Given the description of an element on the screen output the (x, y) to click on. 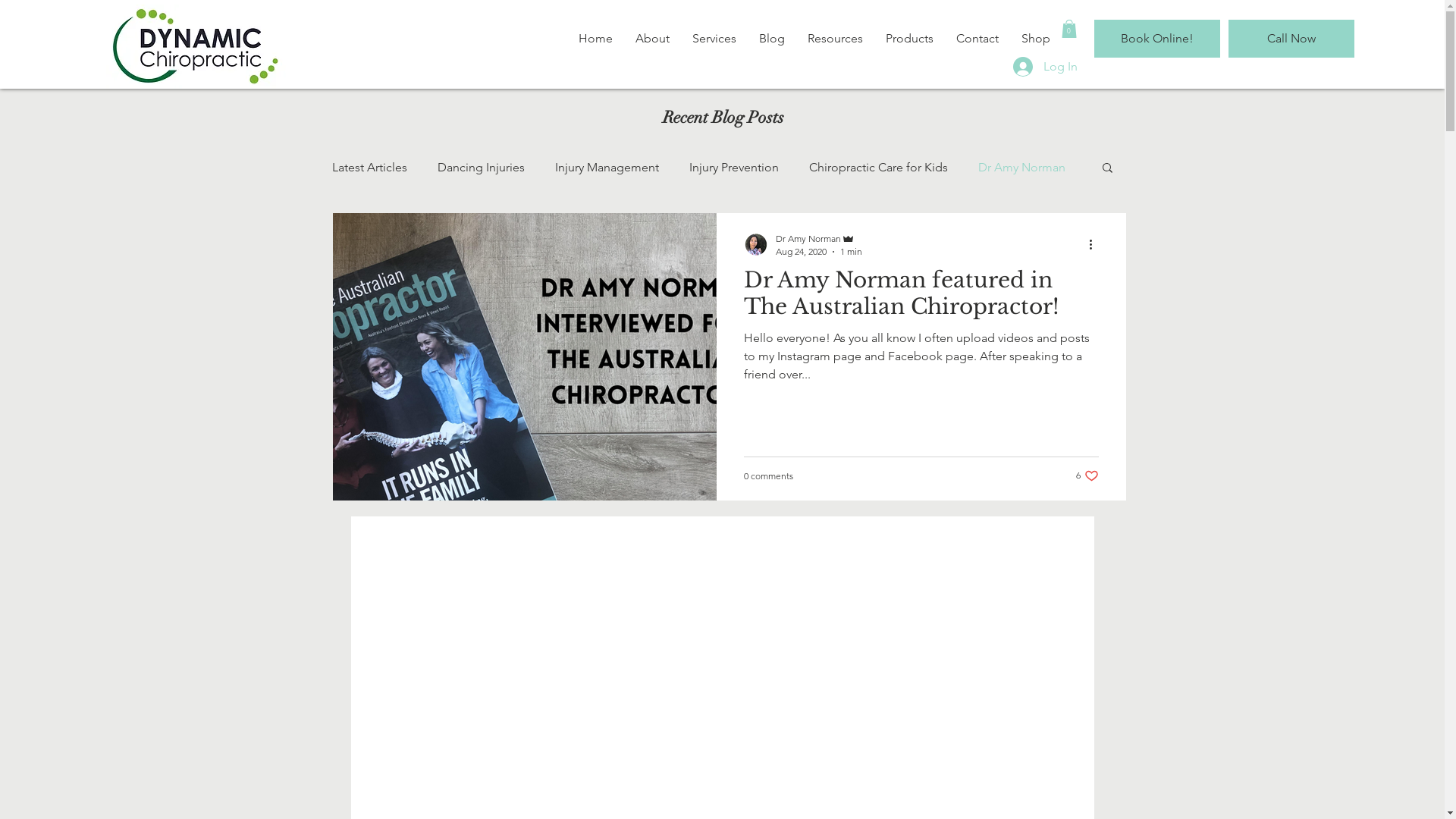
Dr Amy Norman featured in The Australian Chiropractor! Element type: text (920, 297)
Injury Management Element type: text (606, 166)
Book Online! Element type: text (1156, 38)
Shop Element type: text (1035, 38)
Dancing Injuries Element type: text (480, 166)
Injury Prevention Element type: text (733, 166)
Home Element type: text (595, 38)
Resources Element type: text (835, 38)
Products Element type: text (908, 38)
0 comments Element type: text (767, 475)
Call Now Element type: text (1291, 38)
Chiropractic Care for Kids Element type: text (877, 166)
Latest Articles Element type: text (369, 166)
Blog Element type: text (771, 38)
6 likes. Post not marked as liked
6 Element type: text (1086, 475)
0 Element type: text (1068, 28)
Services Element type: text (713, 38)
About Element type: text (651, 38)
Contact Element type: text (977, 38)
Dr Amy Norman Element type: text (1021, 166)
Log In Element type: text (1045, 66)
Dr Amy Norman Element type: text (818, 238)
